Given the description of an element on the screen output the (x, y) to click on. 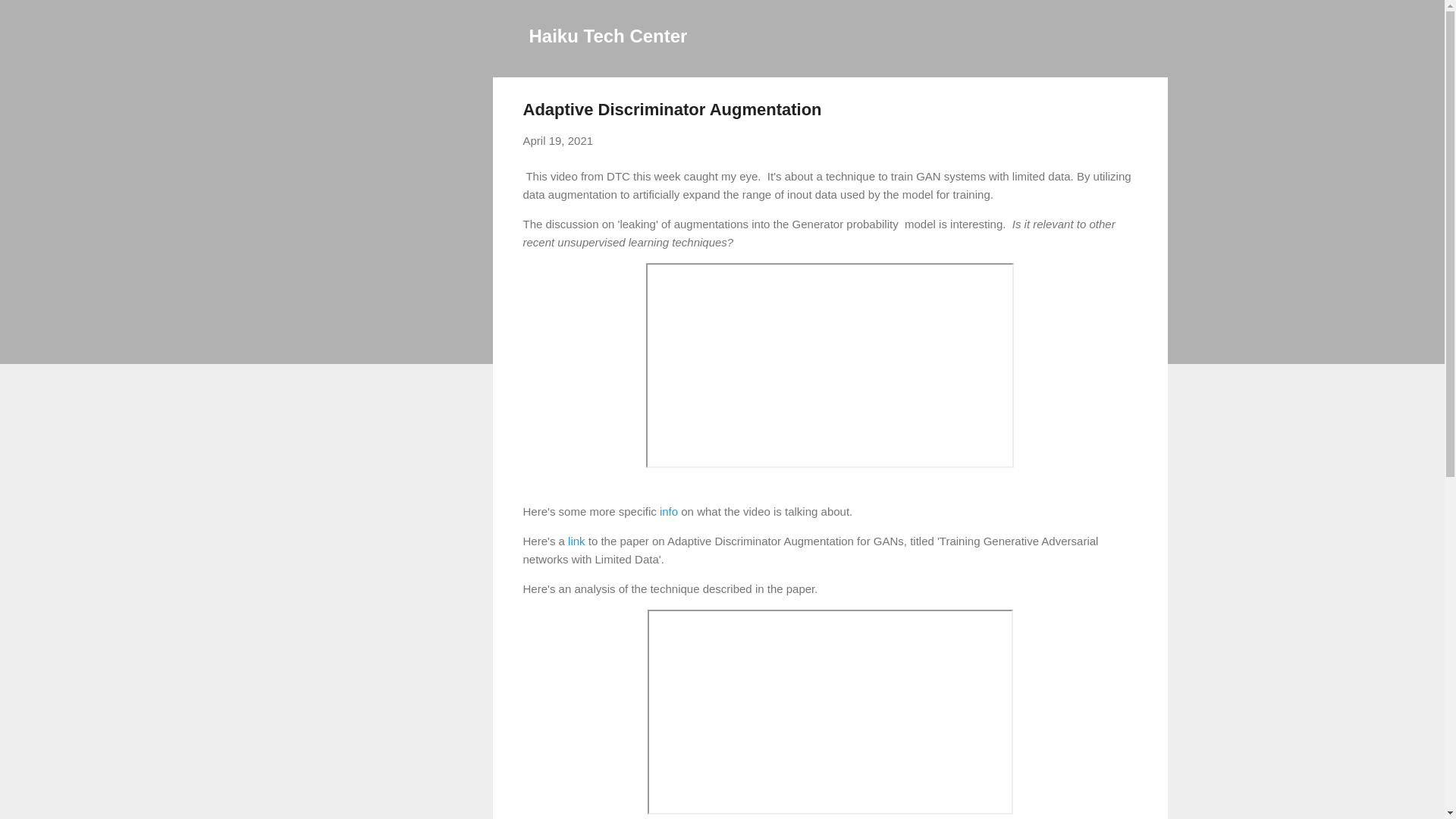
link (576, 540)
Haiku Tech Center (608, 35)
Search (29, 18)
permanent link (558, 140)
April 19, 2021 (558, 140)
info (668, 511)
